Given the description of an element on the screen output the (x, y) to click on. 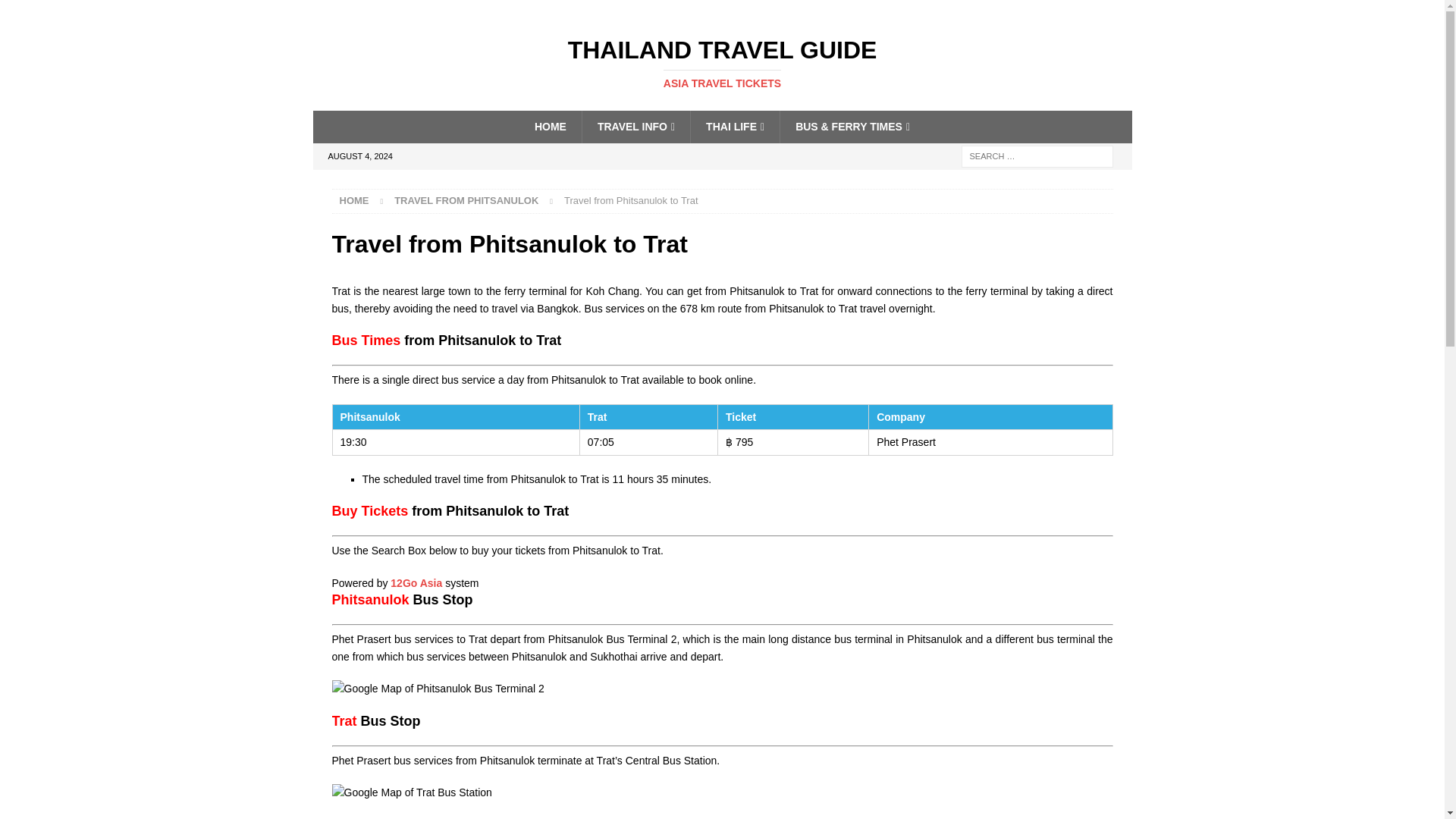
Home (722, 63)
Travel from Phitsanulok (354, 200)
Thailand Travel Guide (466, 200)
